Given the description of an element on the screen output the (x, y) to click on. 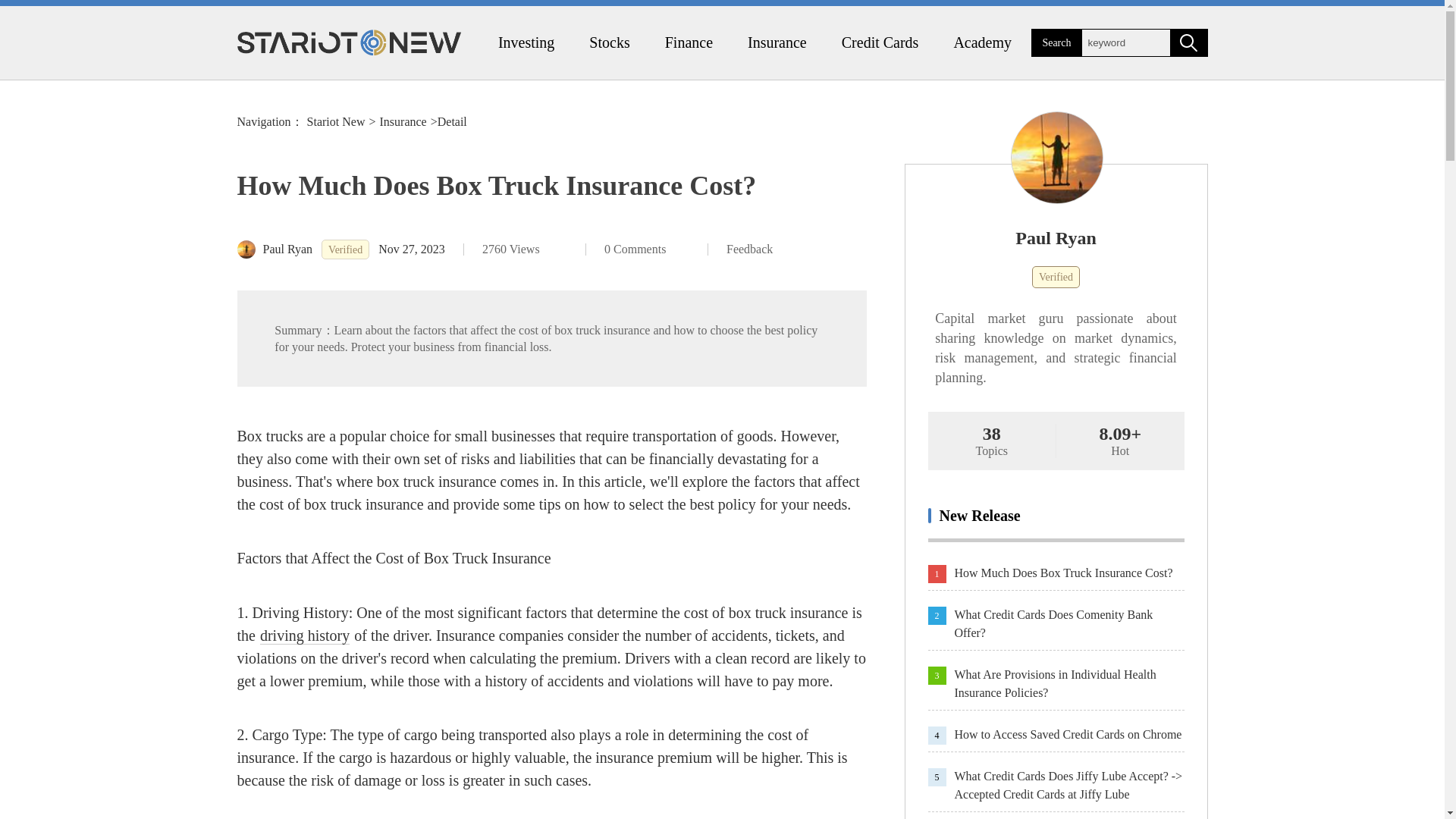
Academy (982, 42)
Finance (688, 42)
driving history (304, 635)
Investing (525, 42)
Investing (525, 42)
Stocks (609, 42)
Stariot New (336, 121)
How Much Does Box Truck Insurance Cost? (1068, 573)
Stocks (609, 42)
keyword (1125, 42)
Insurance (777, 42)
What Credit Cards Does Comenity Bank Offer? (1068, 624)
Insurance (402, 121)
keyword (1125, 42)
Paul Ryan (1056, 237)
